Given the description of an element on the screen output the (x, y) to click on. 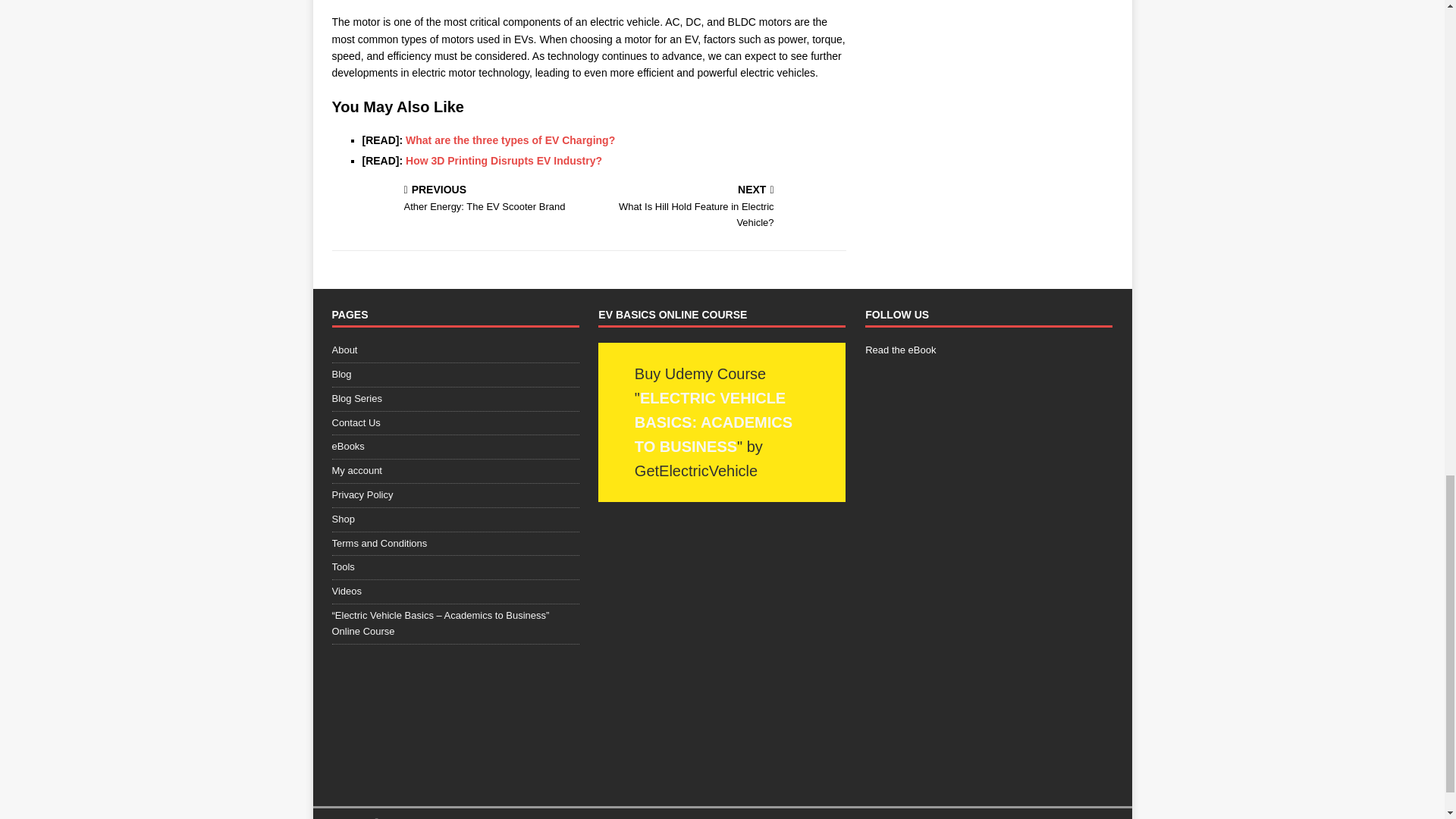
How 3D Printing Disrupts EV Industry? (504, 160)
What are the three types of EV Charging? (510, 140)
